Given the description of an element on the screen output the (x, y) to click on. 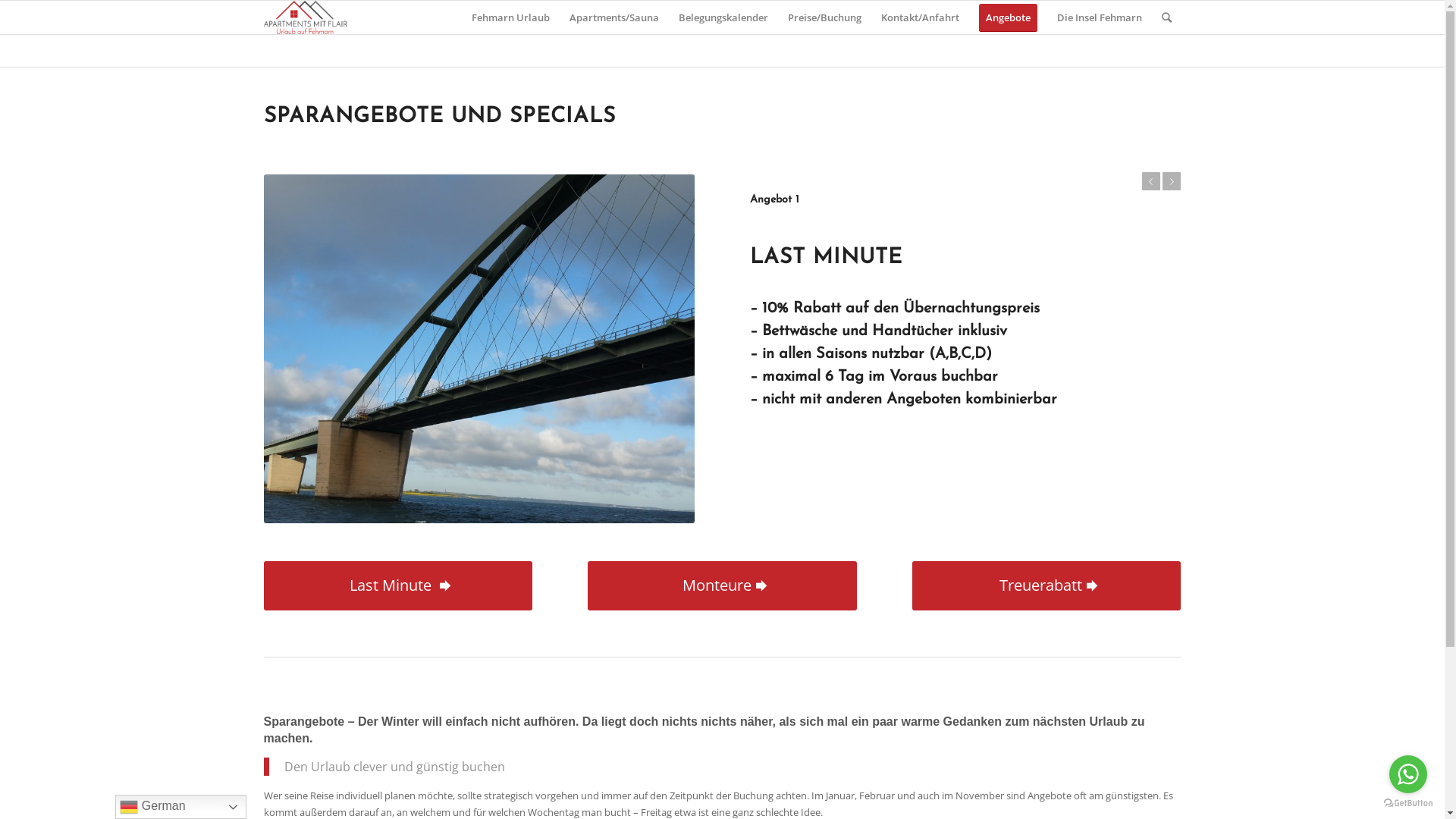
Angebote Element type: text (1008, 17)
Treuerabatt Element type: text (1046, 585)
Kontakt/Anfahrt Element type: text (919, 17)
Die Insel Fehmarn Element type: text (1098, 17)
Angebot 1 Element type: text (774, 199)
Weiter Element type: text (1171, 181)
Last Minute Element type: text (398, 585)
Fehmarn Urlaub Element type: text (509, 17)
Apartments/Sauna Element type: text (613, 17)
Preise/Buchung Element type: text (824, 17)
Belegungskalender Element type: text (723, 17)
Monteure Element type: text (721, 585)
